Given the description of an element on the screen output the (x, y) to click on. 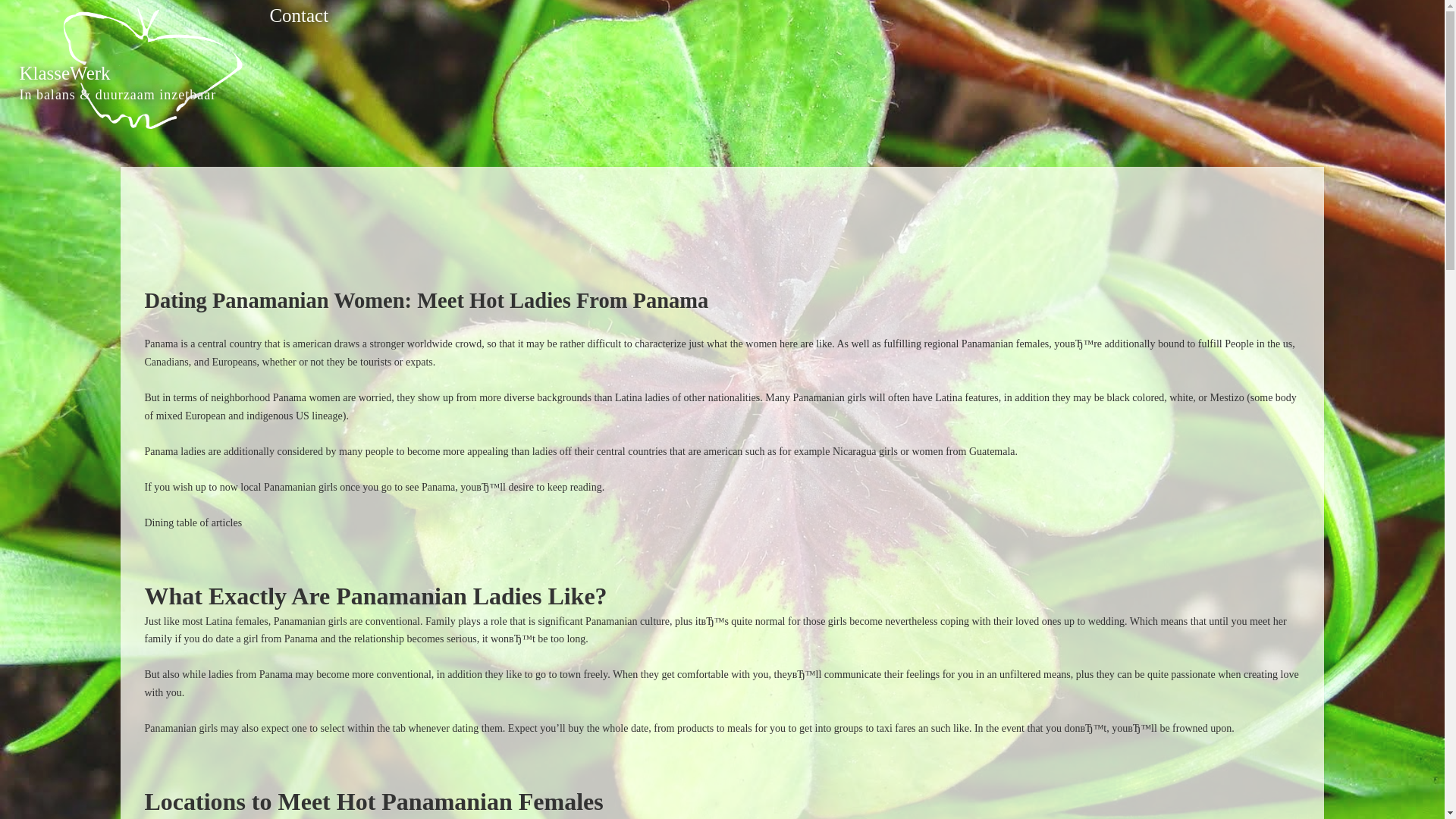
Contact (299, 14)
